Given the description of an element on the screen output the (x, y) to click on. 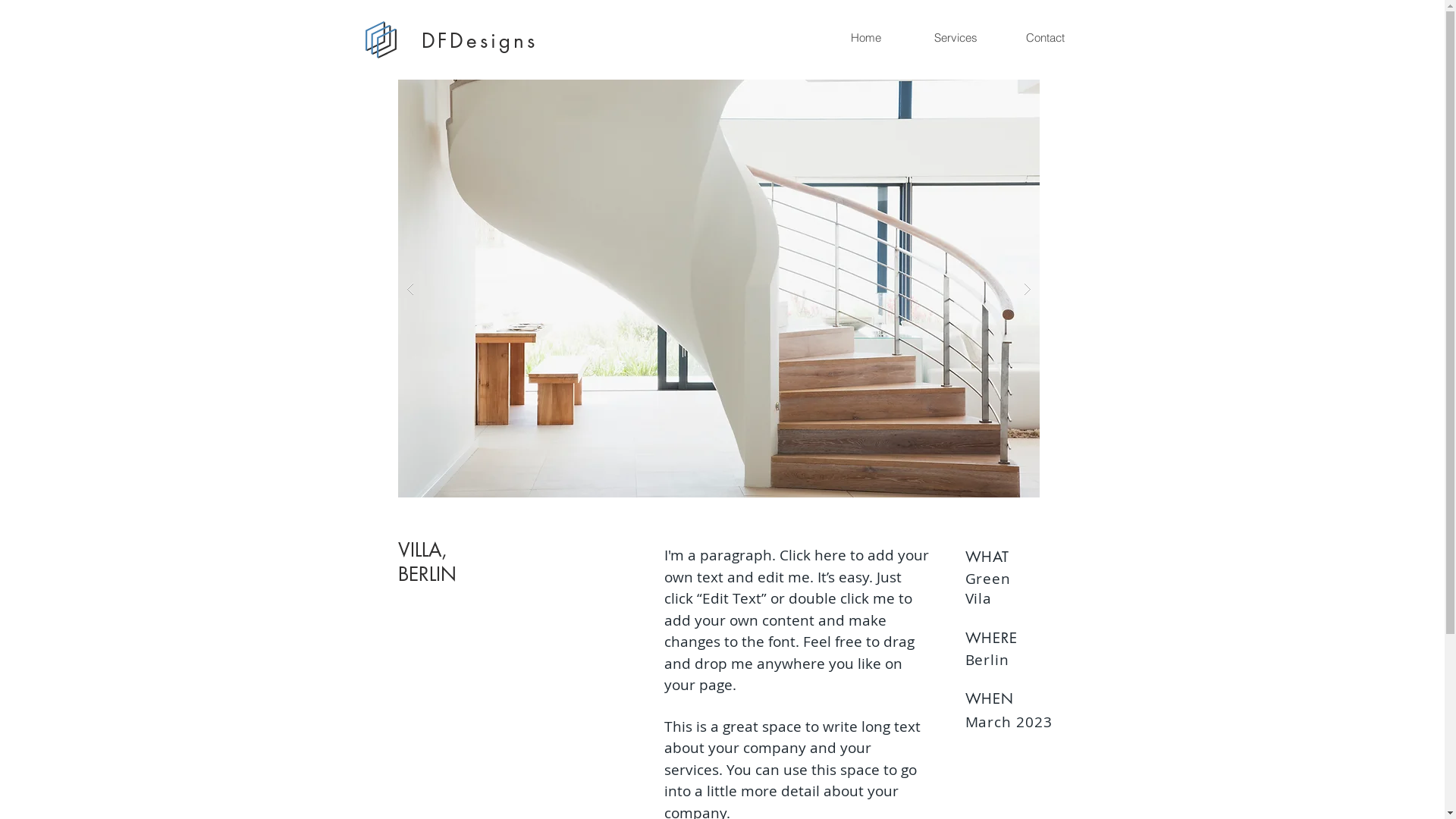
Services Element type: text (954, 37)
Contact Element type: text (1043, 37)
Home Element type: text (865, 37)
